Given the description of an element on the screen output the (x, y) to click on. 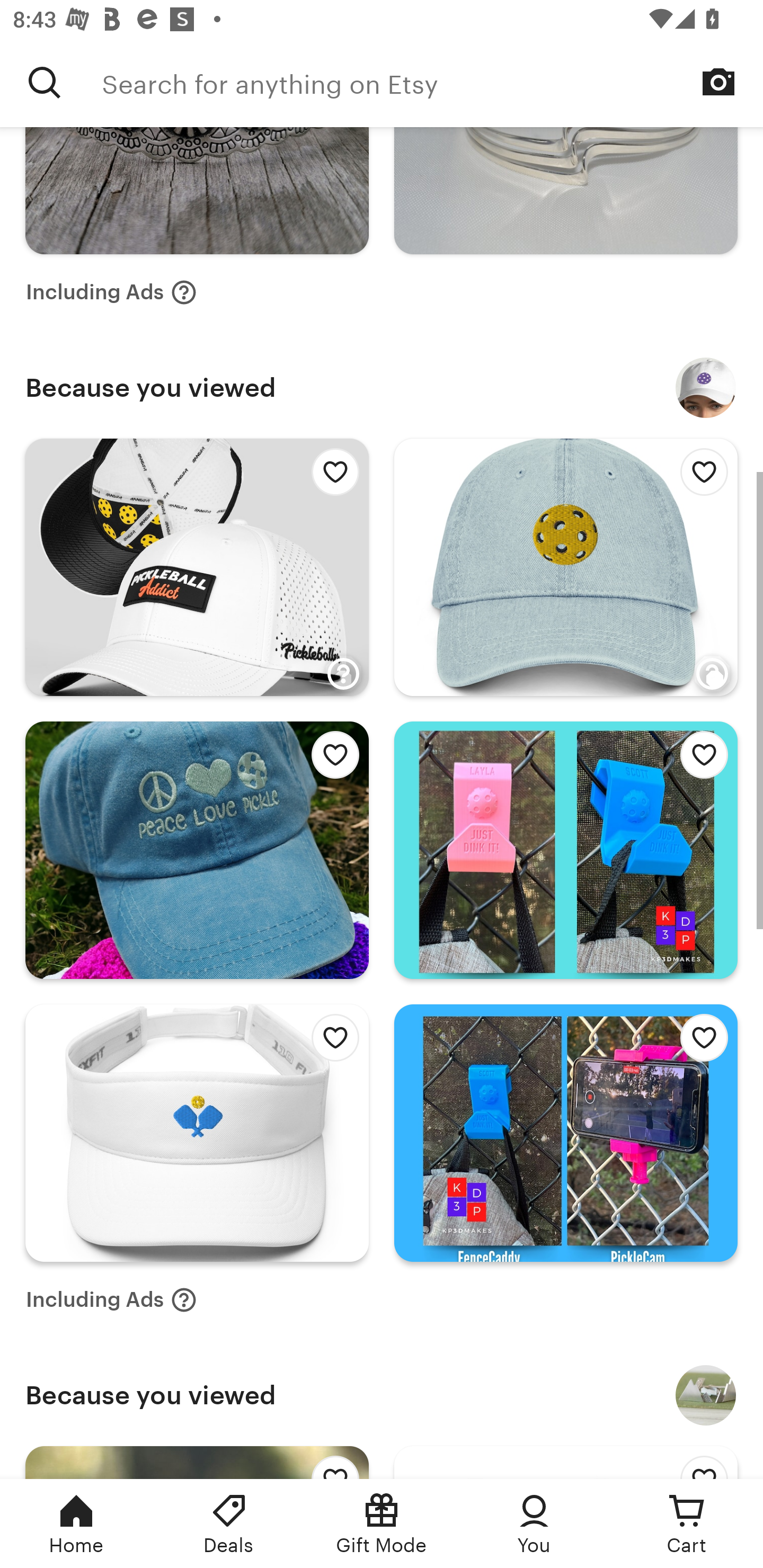
Search for anything on Etsy (44, 82)
Search by image (718, 81)
Search for anything on Etsy (432, 82)
Including Ads (111, 292)
Add Pickleball Addict Performance Hat to favorites (330, 476)
Including Ads (111, 1299)
Deals (228, 1523)
Gift Mode (381, 1523)
You (533, 1523)
Cart (686, 1523)
